Given the description of an element on the screen output the (x, y) to click on. 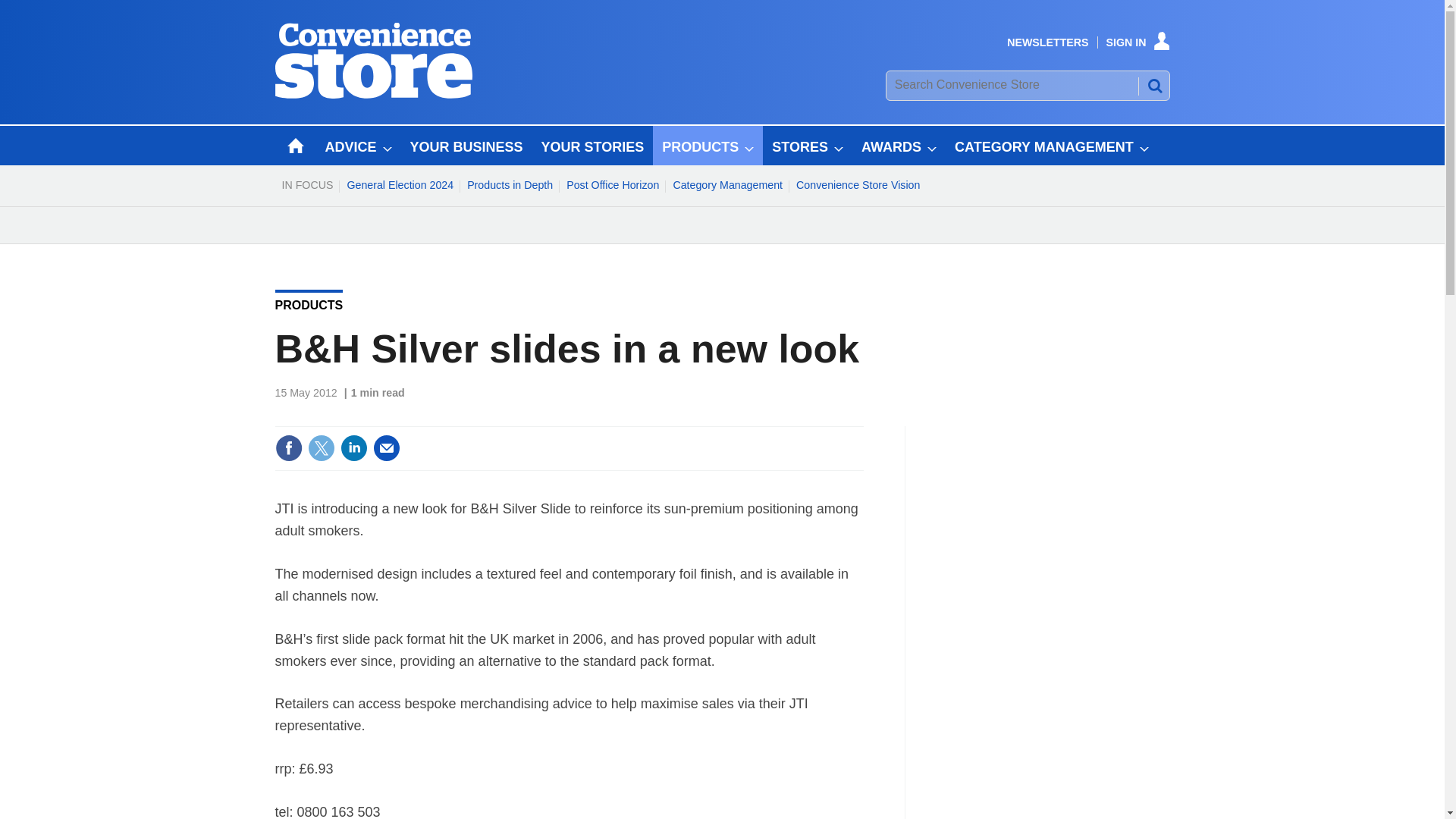
General Election 2024 (399, 184)
Convenience Store Vision (857, 184)
Share this on Twitter (320, 447)
Share this on Facebook (288, 447)
Email this article (386, 447)
Post Office Horizon (612, 184)
SEARCH (1153, 85)
SIGN IN (1138, 42)
Category Management (727, 184)
Site name (373, 93)
Products in Depth (509, 184)
NEWSLETTERS (1047, 42)
Share this on Linked in (352, 447)
